Given the description of an element on the screen output the (x, y) to click on. 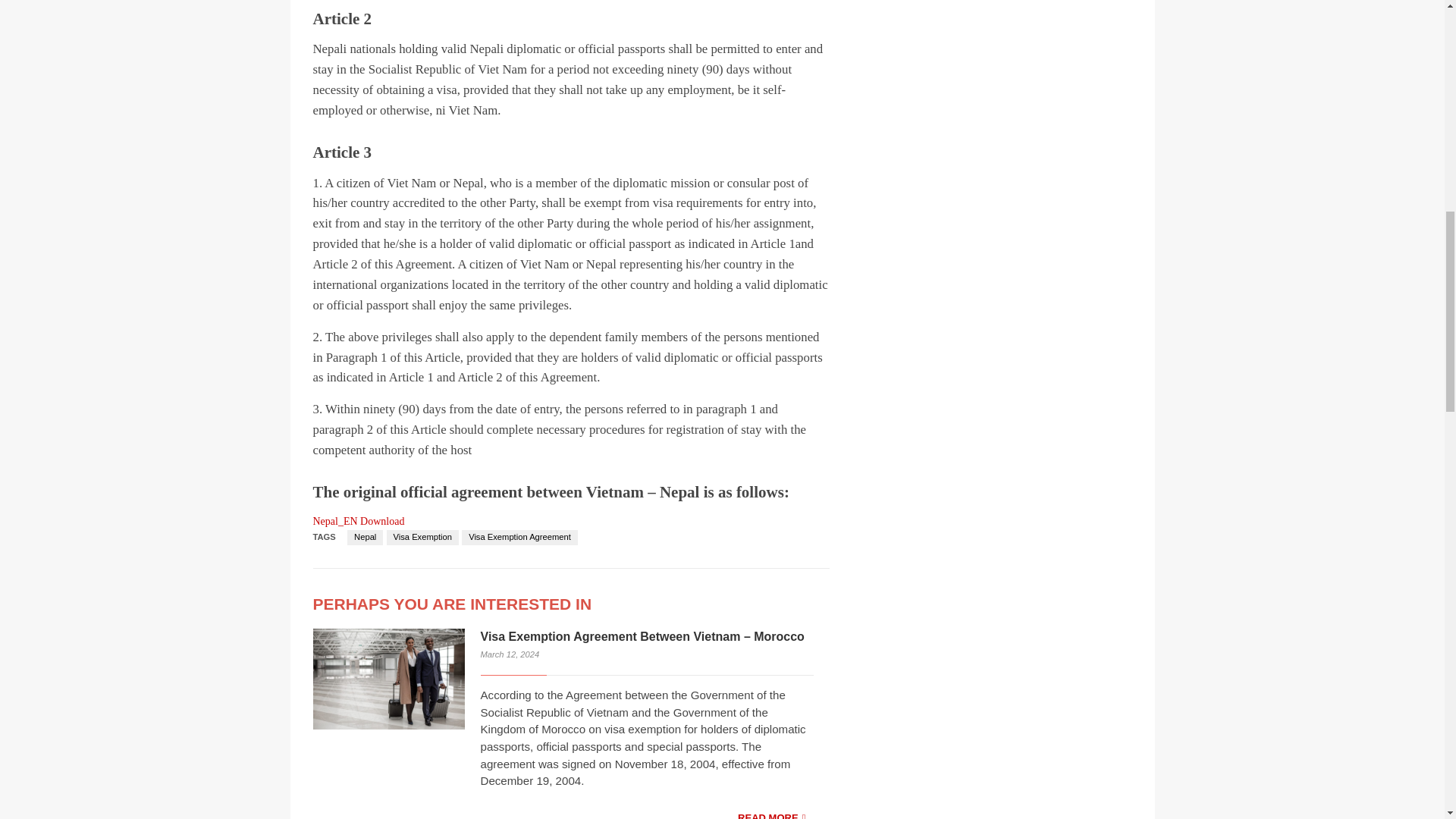
Download (381, 521)
Nepal (364, 537)
Visa Exemption Agreement (519, 537)
Visa Exemption (422, 537)
READ MORE (771, 812)
